Given the description of an element on the screen output the (x, y) to click on. 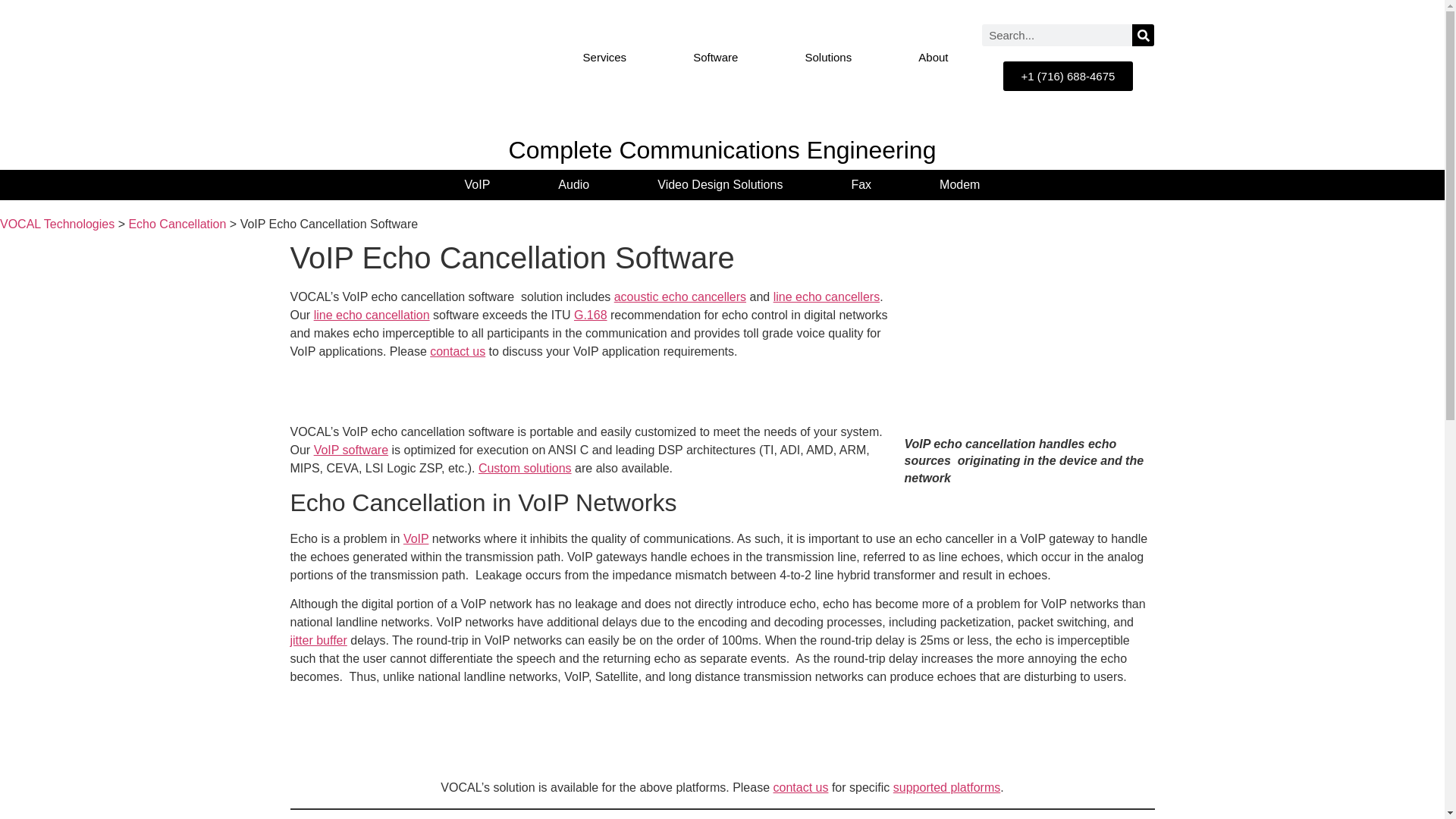
Custom Solutions (525, 468)
Go to Echo Cancellation. (176, 223)
Contact Us Today (456, 350)
VoIP Software (351, 449)
Line Echo Cancellers (826, 296)
Line Echo Canceller (371, 314)
Acoustic Echo Canceller (679, 296)
Jitter Buffer (317, 640)
Go to VOCAL Technologies. (57, 223)
